Given the description of an element on the screen output the (x, y) to click on. 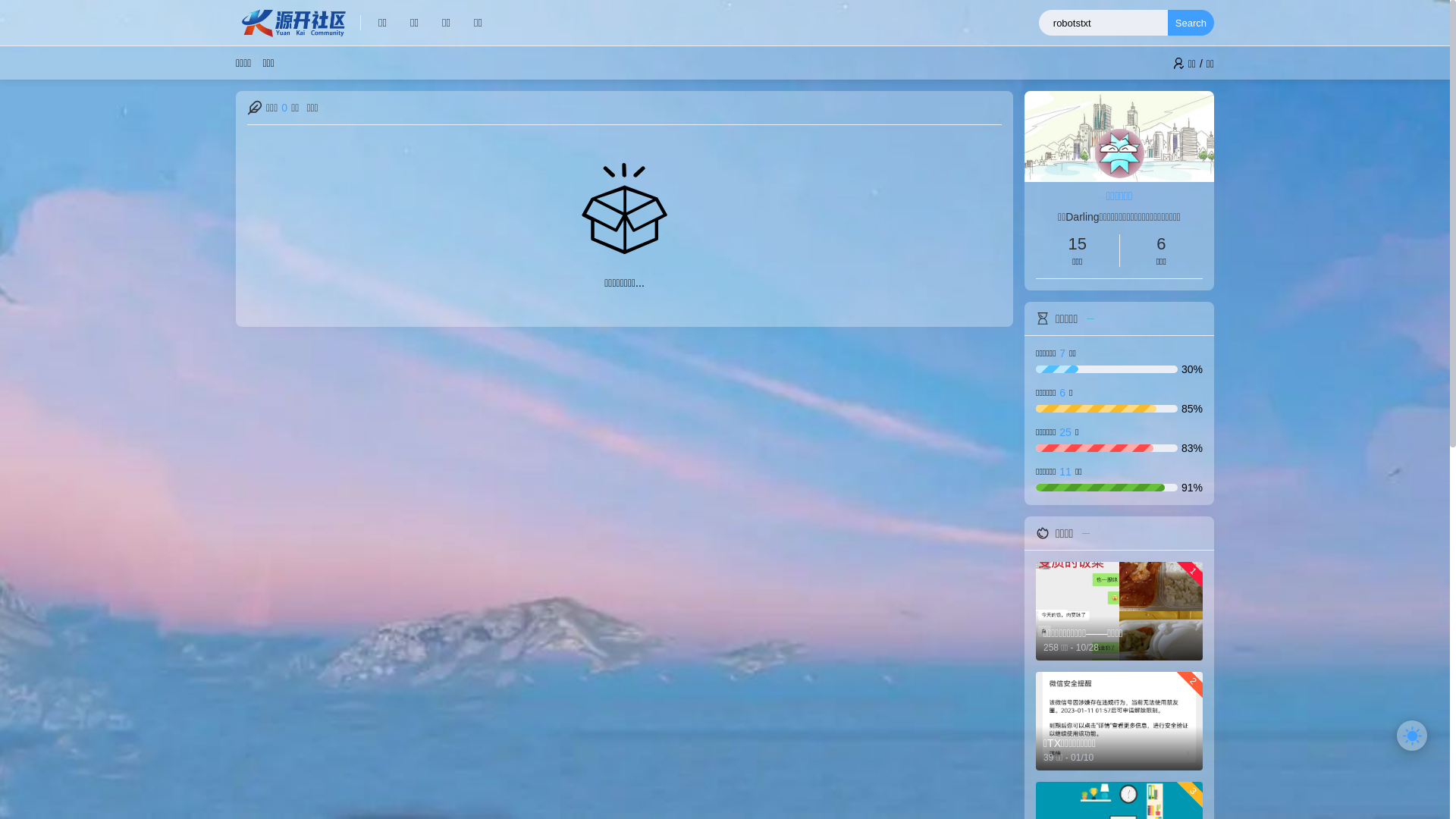
Search Element type: text (1190, 22)
